Given the description of an element on the screen output the (x, y) to click on. 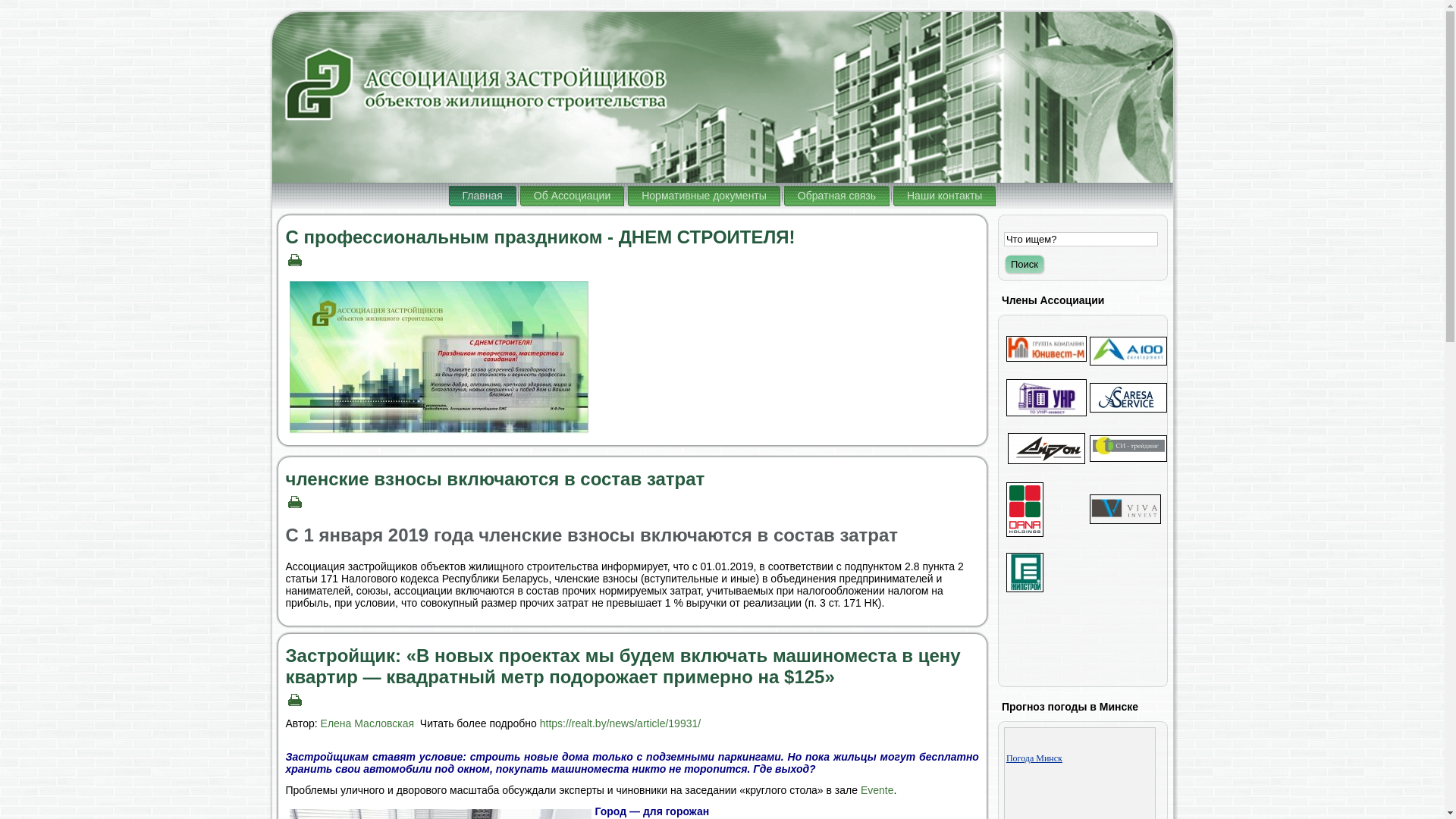
Evente Element type: text (877, 790)
https://realt.by/news/article/19931/ Element type: text (619, 723)
